Given the description of an element on the screen output the (x, y) to click on. 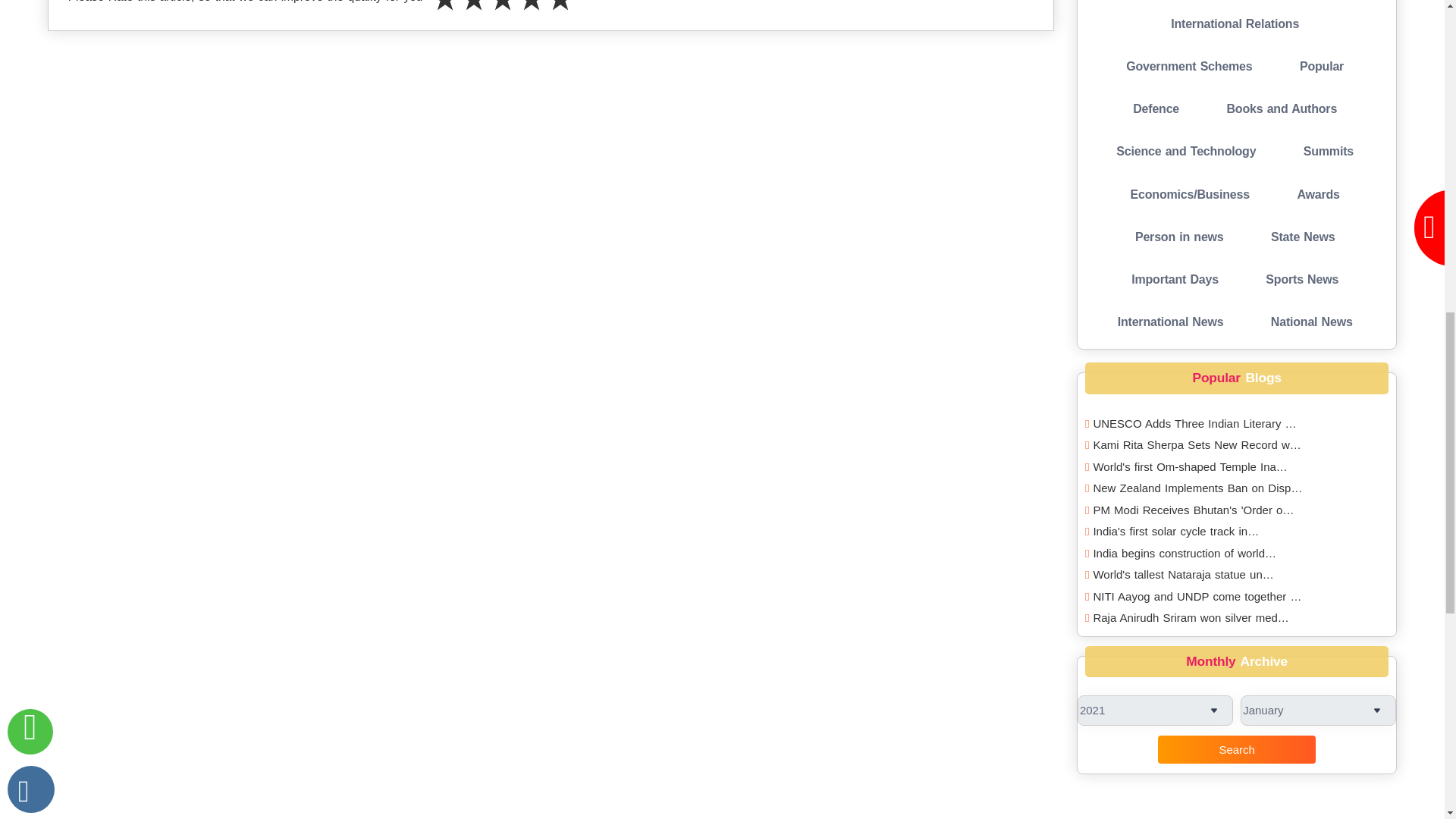
Give 3 stars (501, 11)
Give 5 stars (560, 11)
Give 2 stars (473, 11)
Give 4 stars (531, 11)
Give 1 star (445, 11)
